Given the description of an element on the screen output the (x, y) to click on. 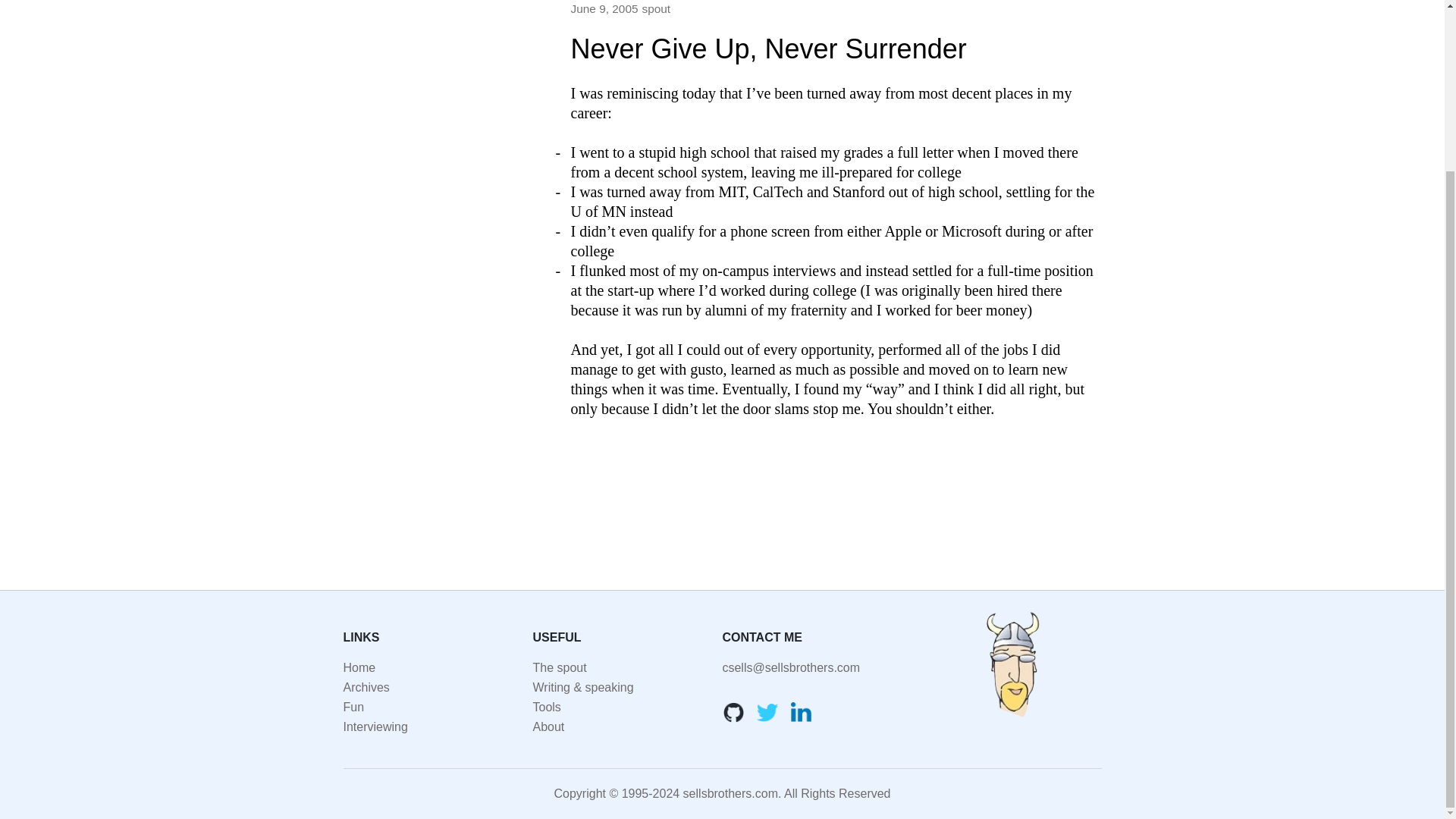
Tools (546, 707)
June 9, 2005 (603, 9)
LinkedIn (800, 712)
Home (358, 667)
The spout (559, 667)
Archives (365, 686)
Twitter (766, 712)
Fun (353, 707)
GitHub (733, 712)
spout (655, 9)
Interviewing (374, 726)
About (548, 726)
